Given the description of an element on the screen output the (x, y) to click on. 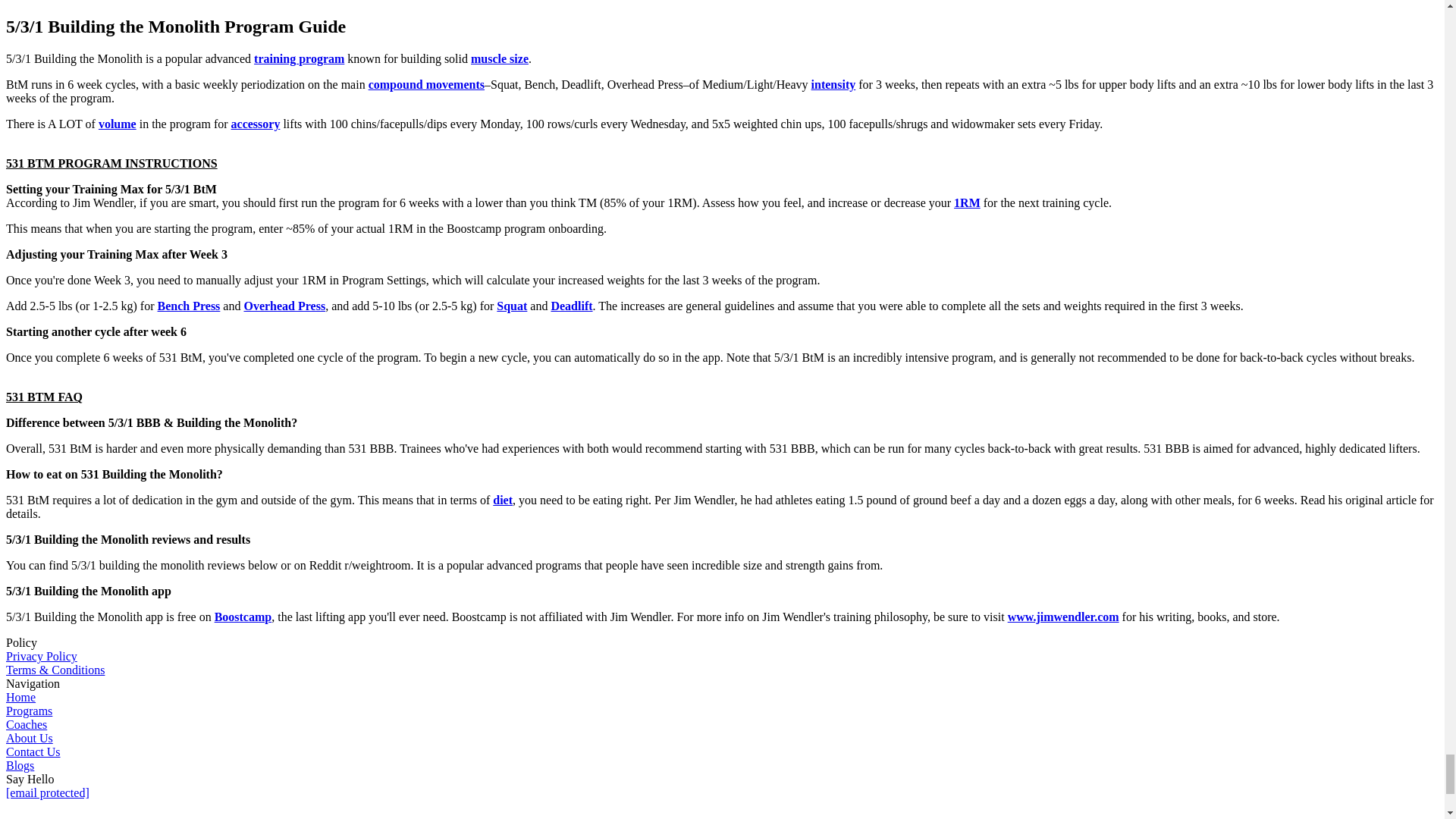
Privacy Policy (41, 656)
compound movements (426, 83)
Bench Press (189, 305)
Squat (511, 305)
Boostcamp (243, 616)
Home (19, 697)
1RM (966, 202)
muscle size (499, 58)
intensity (833, 83)
